Given the description of an element on the screen output the (x, y) to click on. 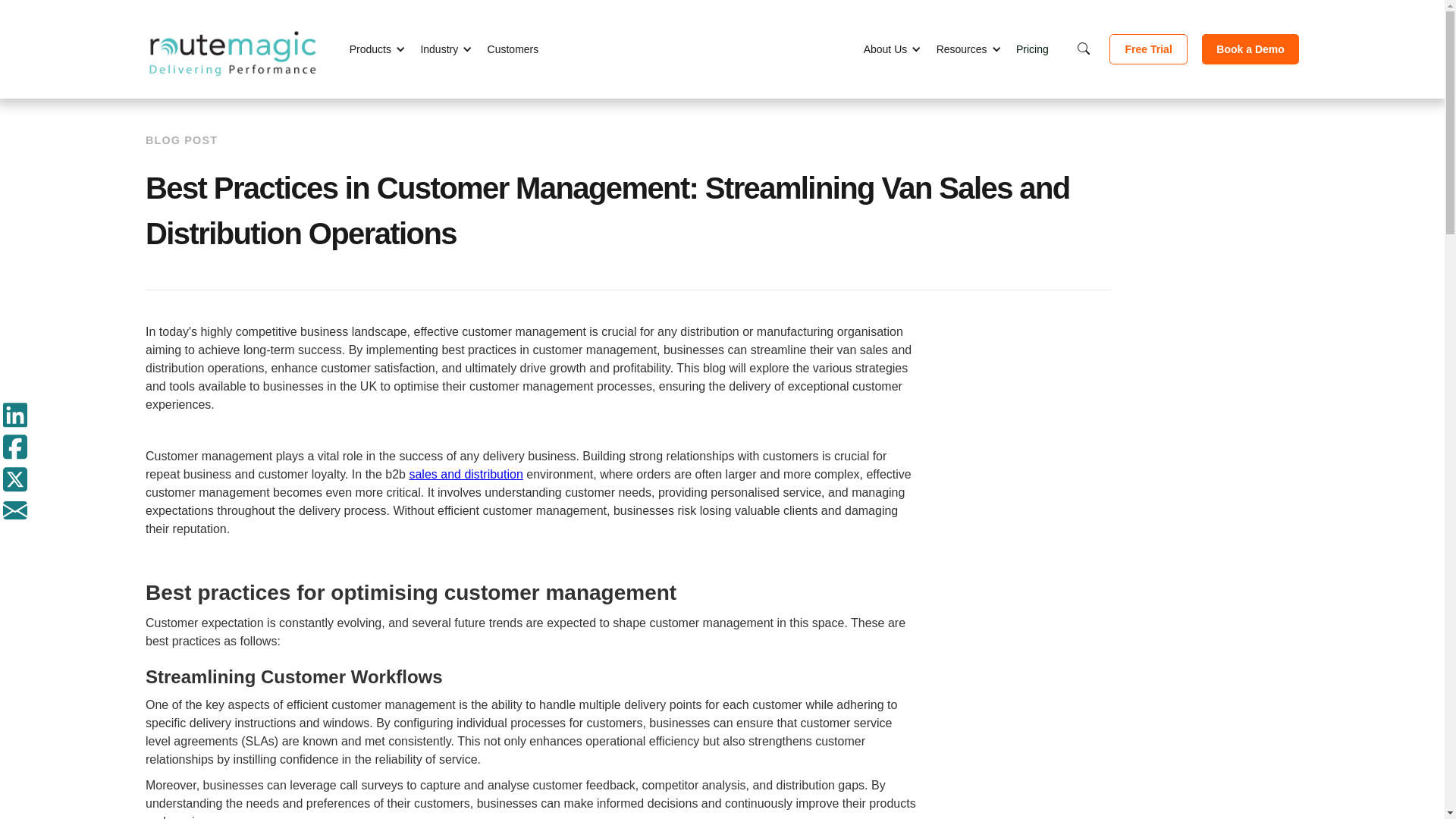
Customers (512, 49)
